Given the description of an element on the screen output the (x, y) to click on. 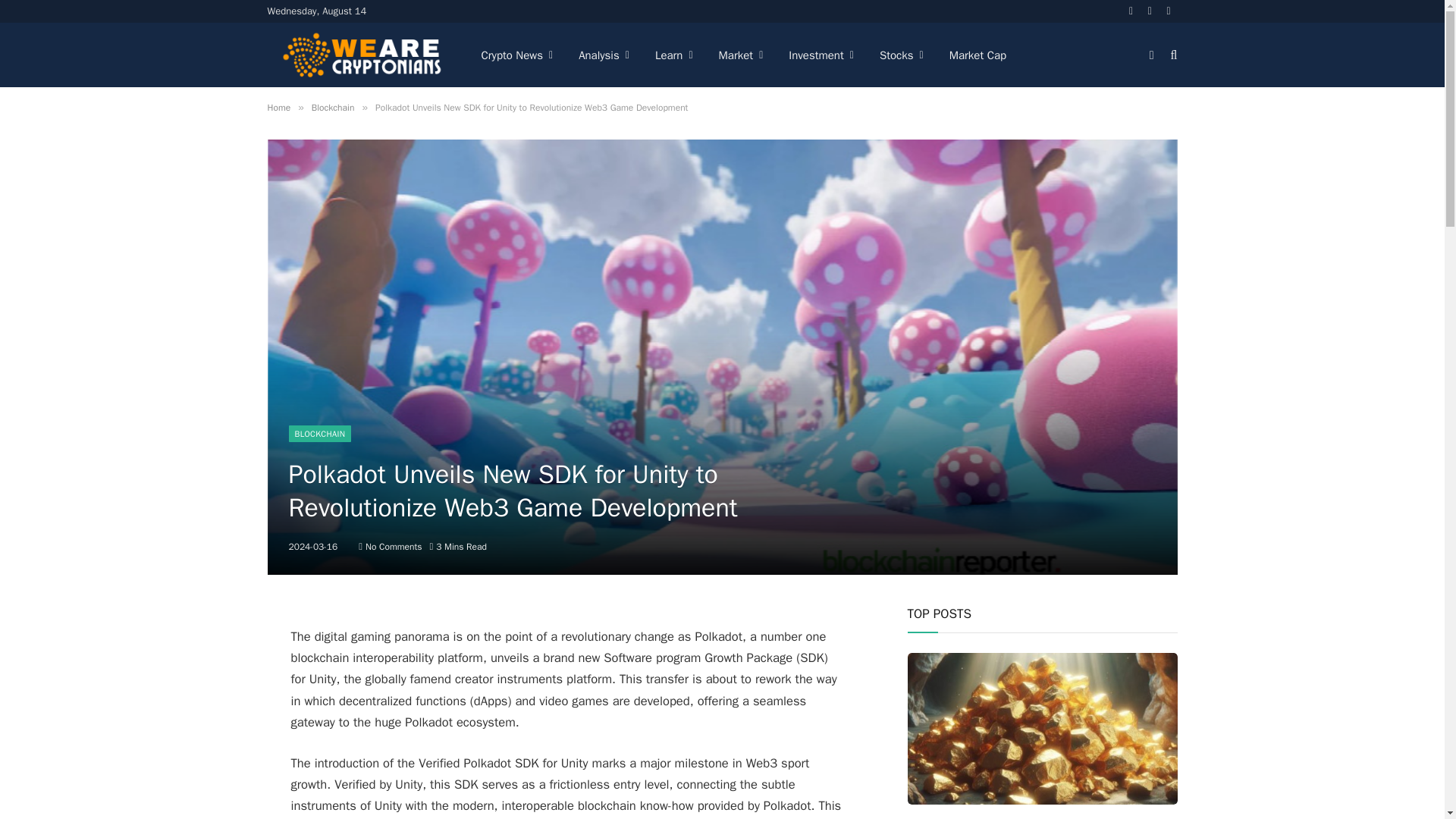
Crypto News (517, 54)
We Are Cryptonians (361, 54)
Analysis (604, 54)
